Given the description of an element on the screen output the (x, y) to click on. 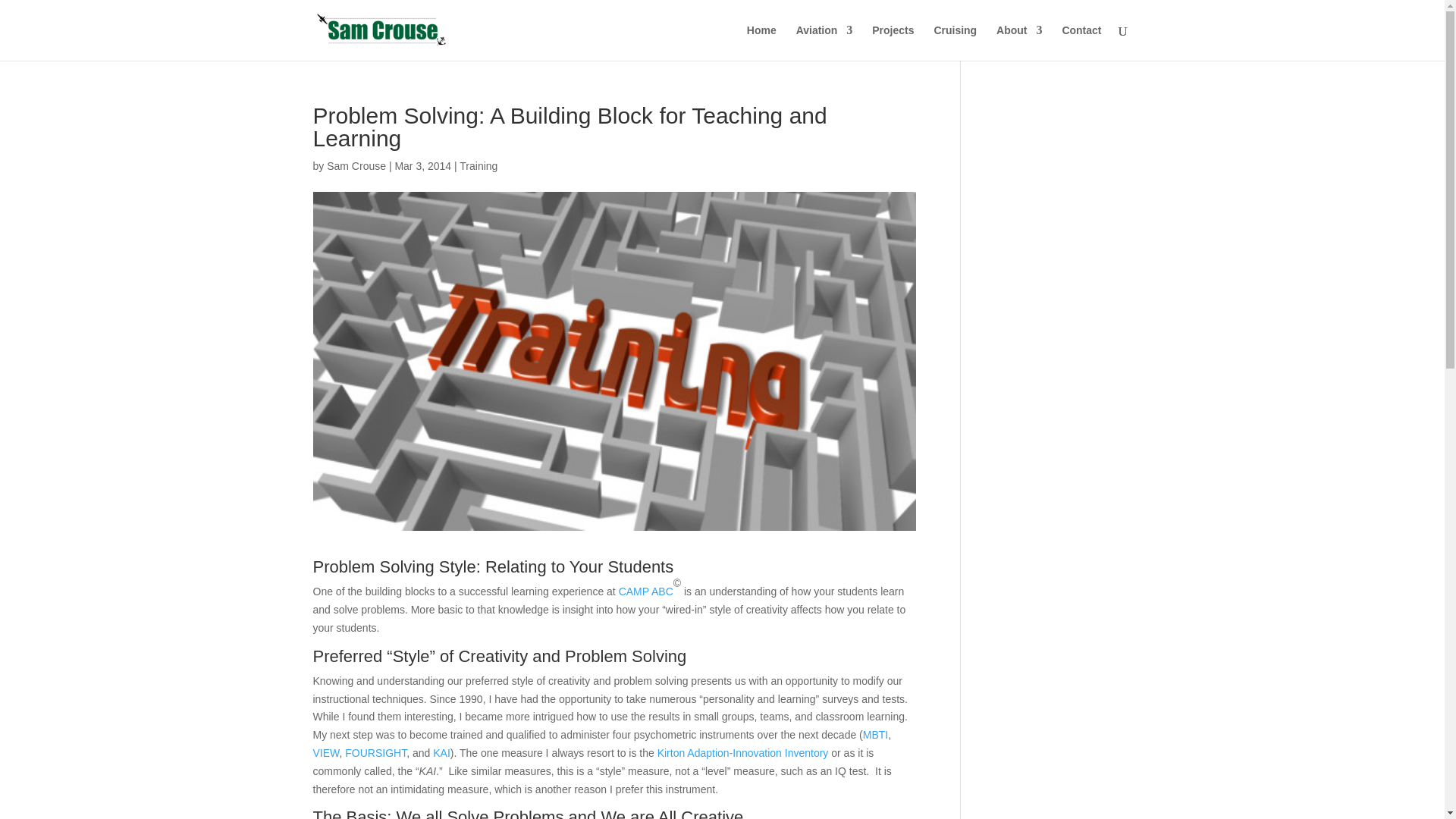
KAI (440, 752)
About (1018, 42)
FOURSIGHT (375, 752)
MBTI (875, 734)
Projects (893, 42)
VIEW (326, 752)
Kirton Adaption-Innovation Inventory (743, 752)
Training (478, 165)
CAMP ABC (645, 591)
Aviation (824, 42)
Sam Crouse (355, 165)
Posts by Sam Crouse (355, 165)
Contact (1080, 42)
Cruising (954, 42)
